Given the description of an element on the screen output the (x, y) to click on. 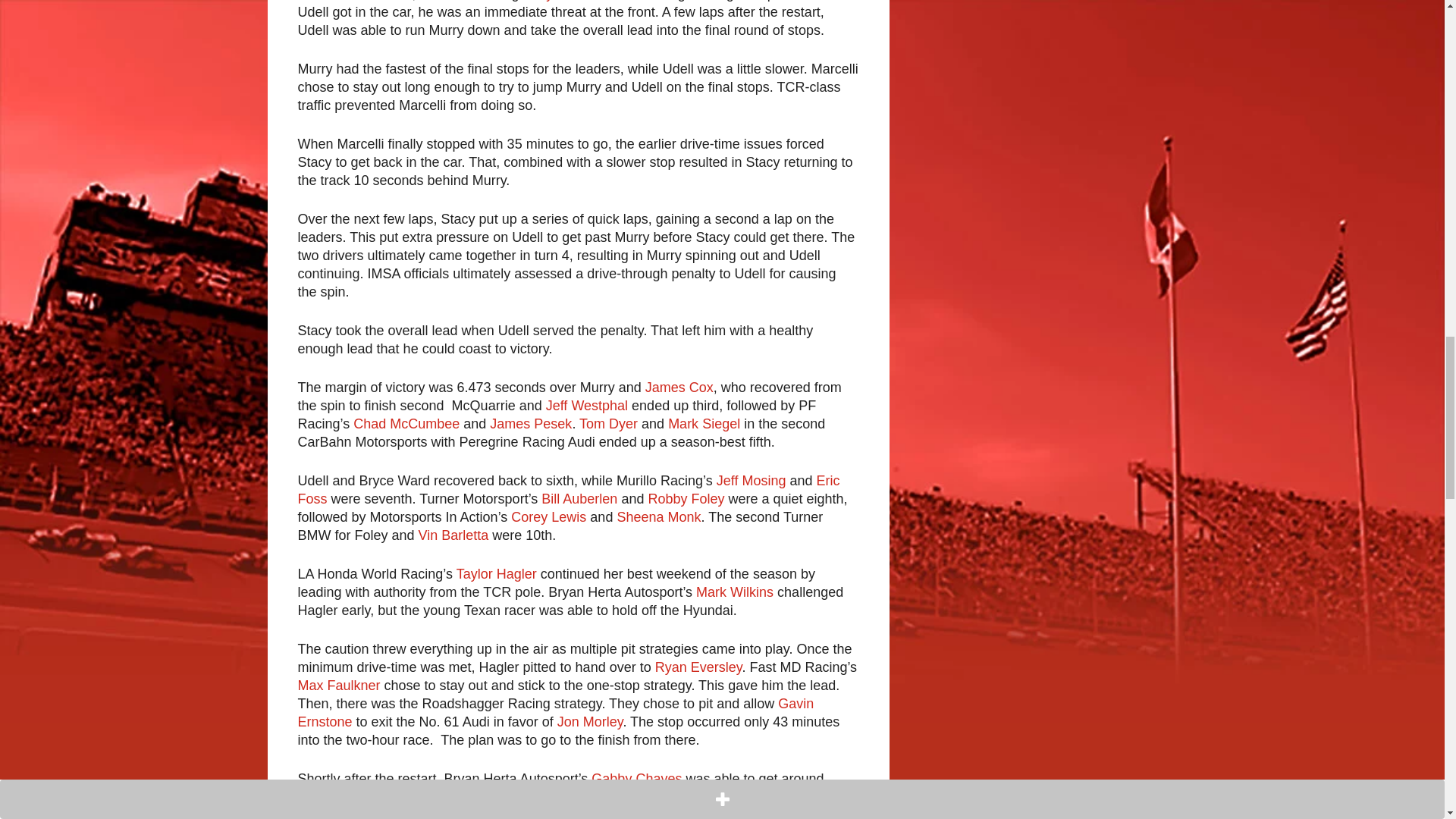
Chad McCumbee (406, 423)
Bryce Ward (567, 0)
Jeff Mosing (751, 480)
Jeff Westphal (586, 405)
Eric Foss (568, 489)
James Pesek (530, 423)
Bill Auberlen (579, 498)
Mark Siegel (703, 423)
James Cox (679, 387)
Tom Dyer (608, 423)
